Given the description of an element on the screen output the (x, y) to click on. 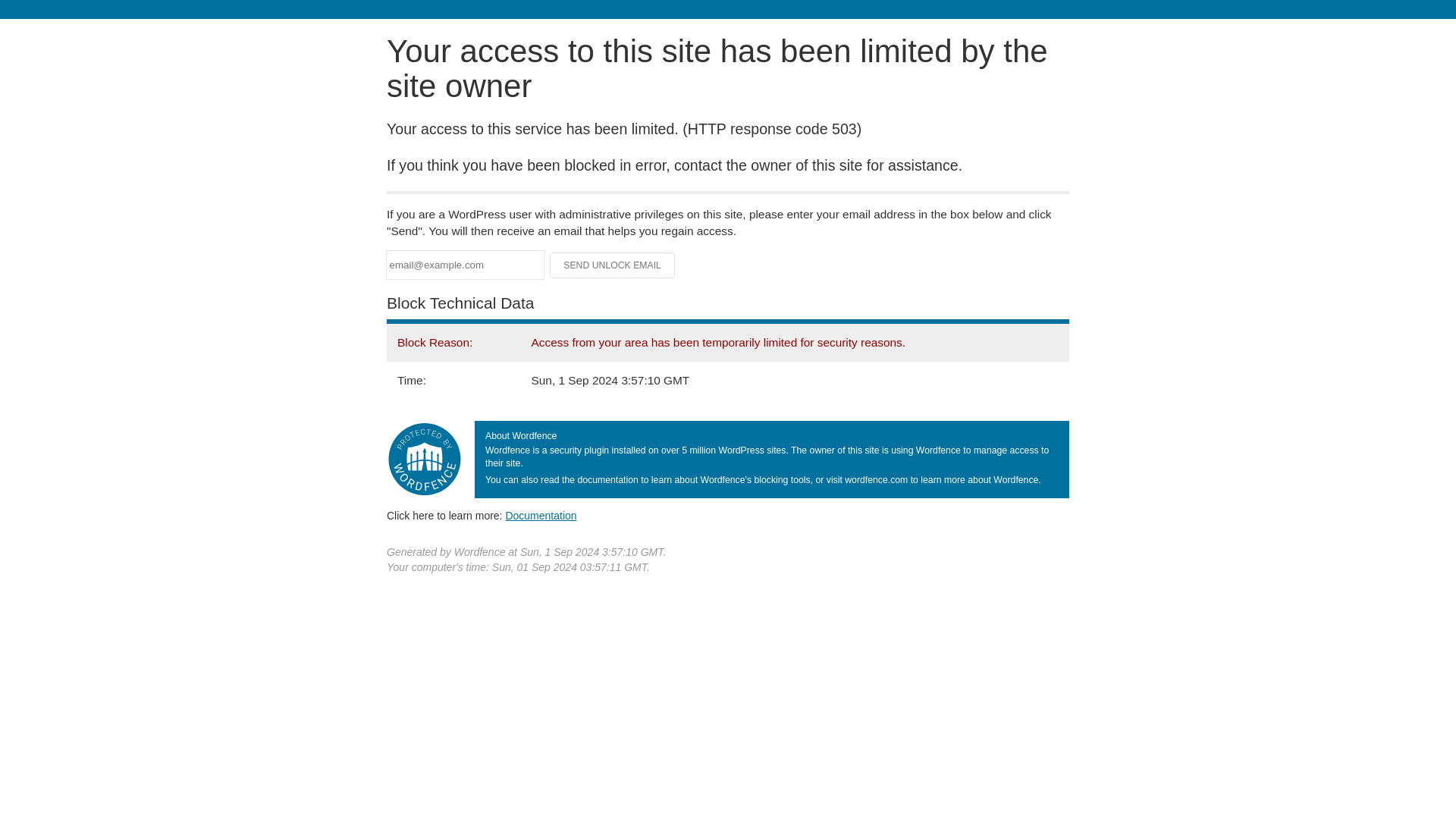
Documentation (540, 515)
Send Unlock Email (612, 265)
Send Unlock Email (612, 265)
